Given the description of an element on the screen output the (x, y) to click on. 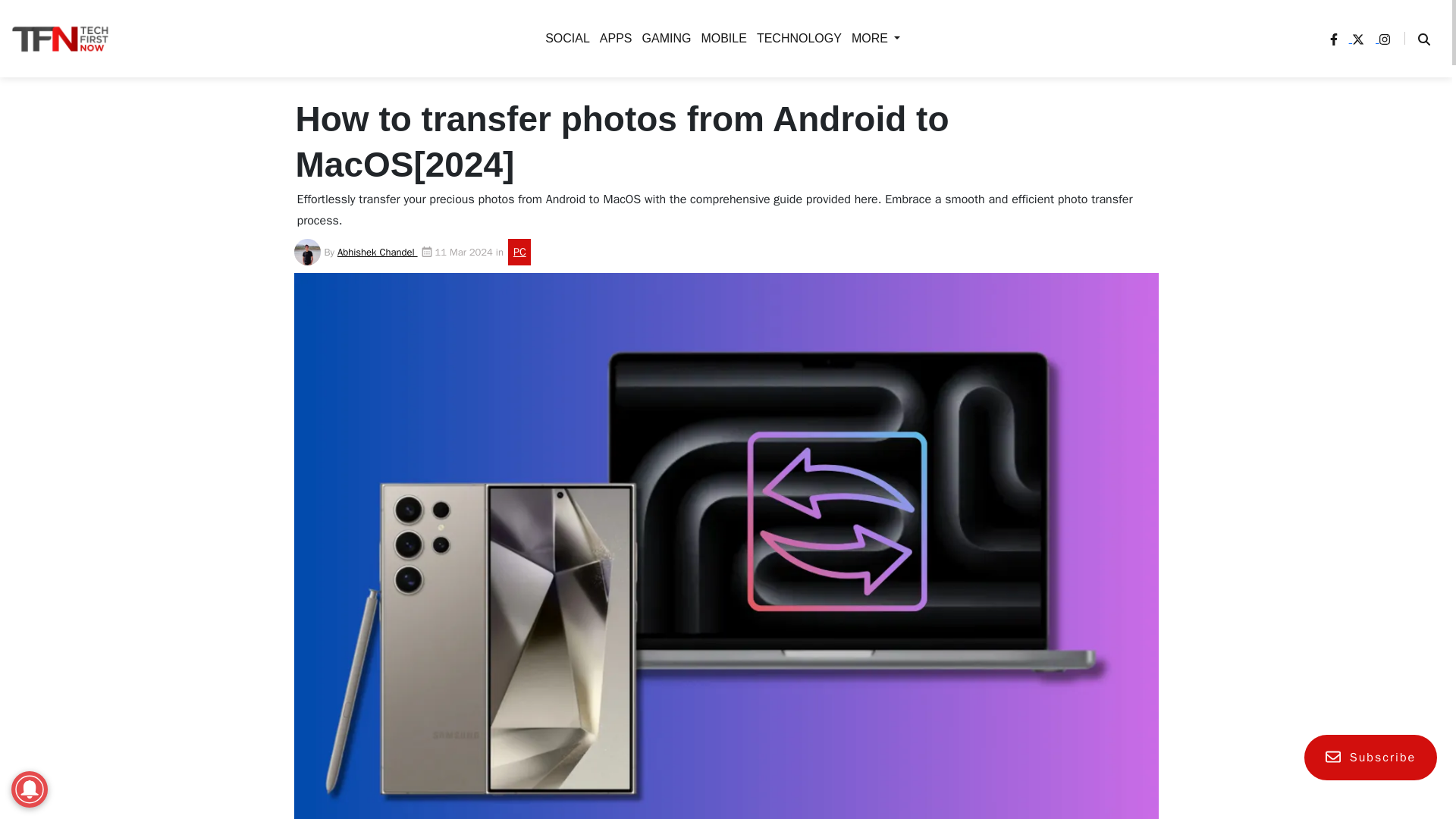
Abhishek Chandel (377, 251)
TECHNOLOGY (796, 38)
